Given the description of an element on the screen output the (x, y) to click on. 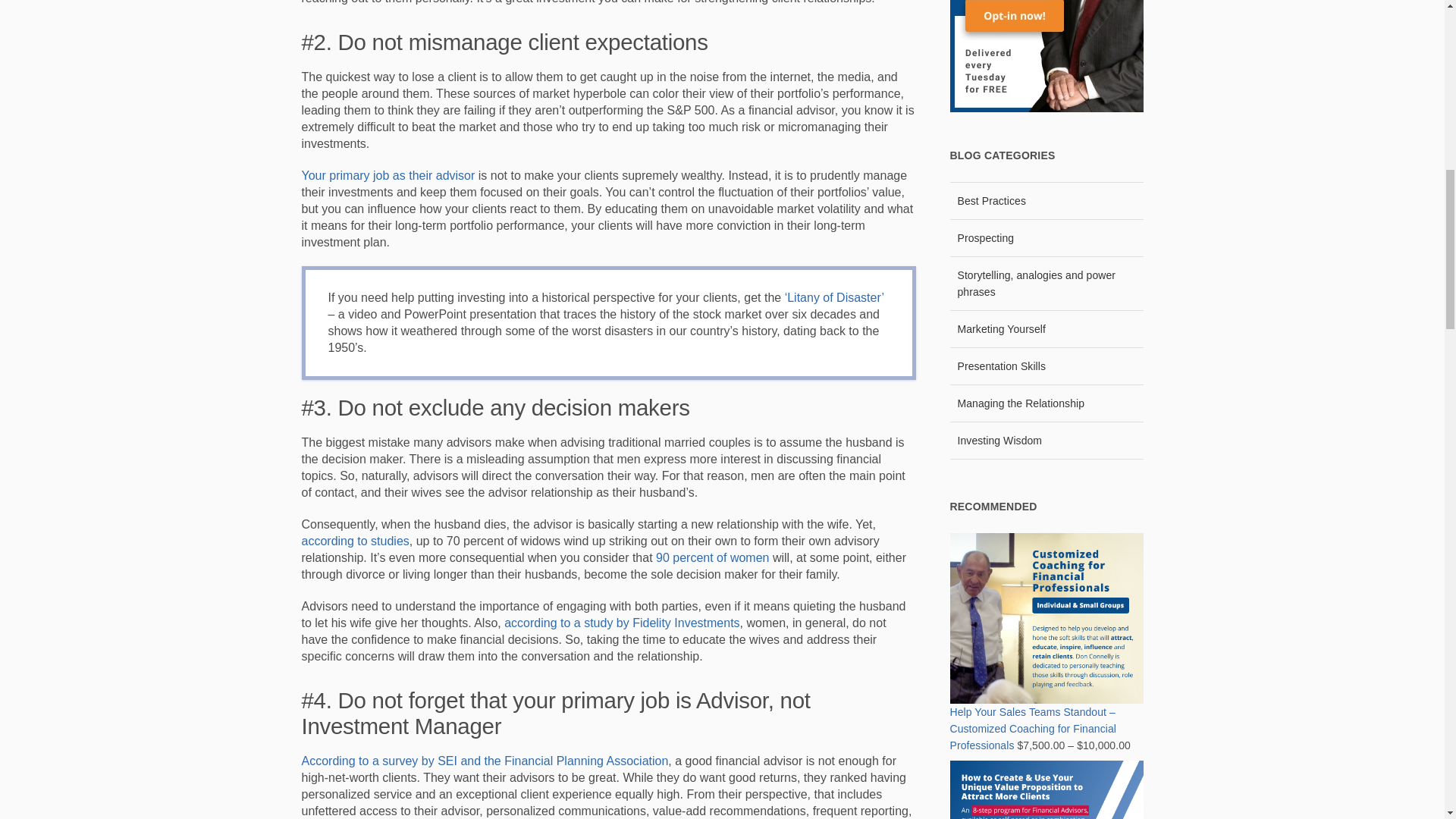
according to studies (355, 540)
according to a study by Fidelity Investments (621, 622)
90 percent of women (712, 557)
Your primary job as their advisor (388, 174)
